Given the description of an element on the screen output the (x, y) to click on. 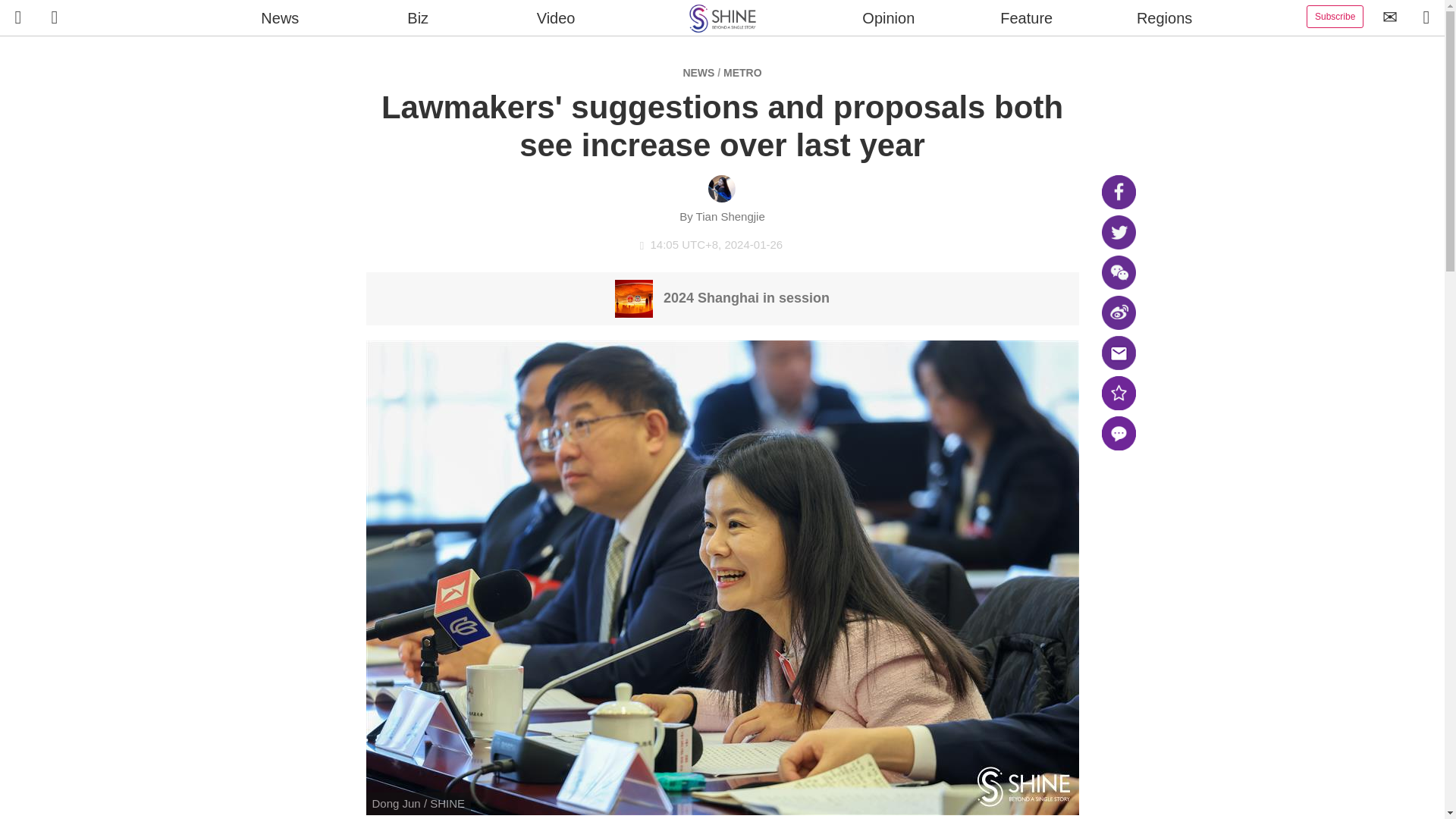
Share your comments (1117, 433)
2024 Shanghai in session (721, 297)
Add to favorites (1117, 392)
METRO (742, 72)
NEWS (698, 72)
Share via email (1117, 352)
